Given the description of an element on the screen output the (x, y) to click on. 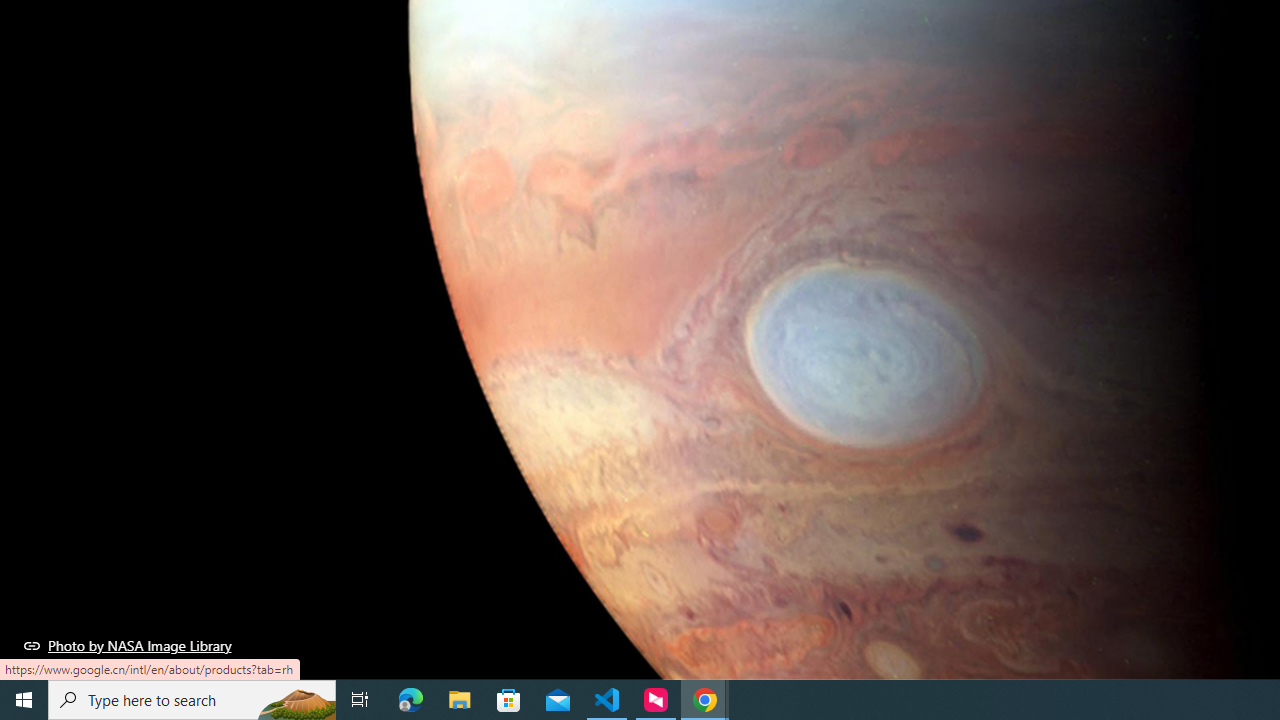
Photo by NASA Image Library (127, 645)
